Given the description of an element on the screen output the (x, y) to click on. 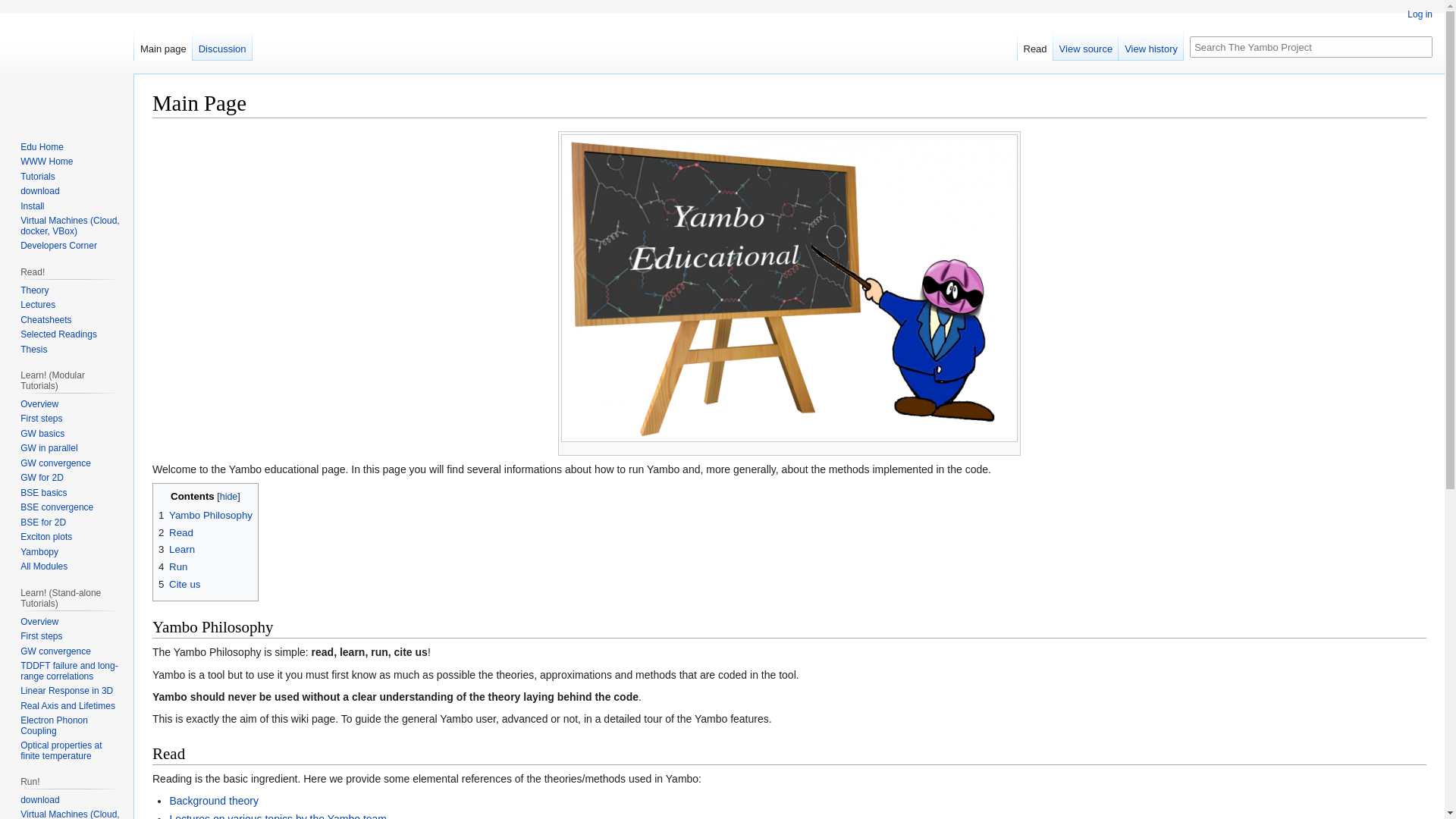
Go (1420, 46)
Log in (1419, 14)
View history (1150, 45)
Search (1420, 46)
Discussion (221, 45)
2 Read (175, 532)
Tutorials (37, 176)
download (39, 190)
View source (1085, 45)
3 Learn (176, 549)
WWW Home (46, 161)
Background theory (213, 800)
Search (1420, 46)
1 Yambo Philosophy (204, 514)
Search (1420, 46)
